Given the description of an element on the screen output the (x, y) to click on. 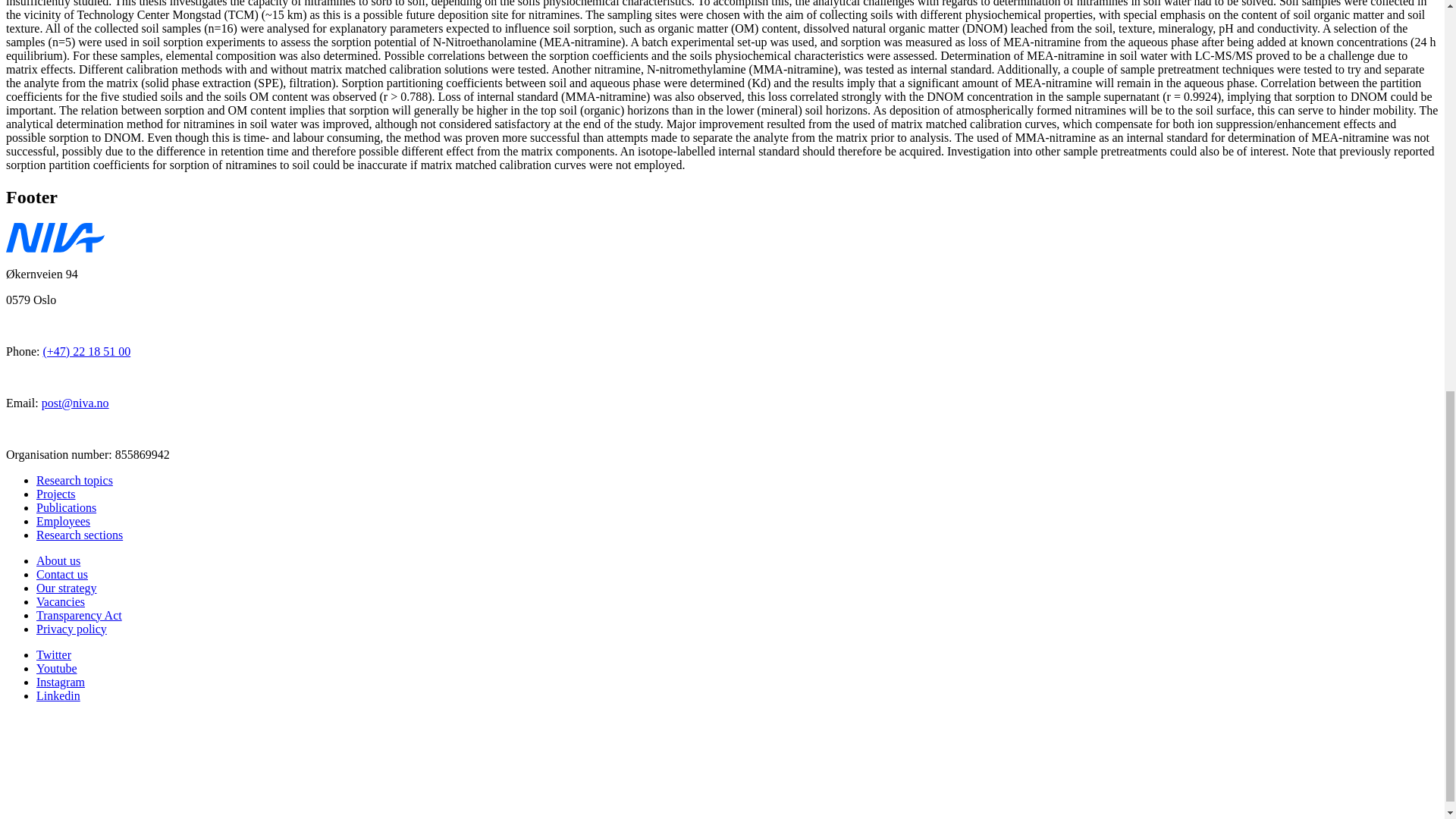
Twitter (53, 653)
Privacy policy (71, 627)
About us (58, 559)
Employees (63, 520)
Research sections (79, 533)
Research topics (74, 479)
Projects (55, 492)
Our strategy (66, 586)
Vacancies (60, 600)
Publications (66, 506)
